Given the description of an element on the screen output the (x, y) to click on. 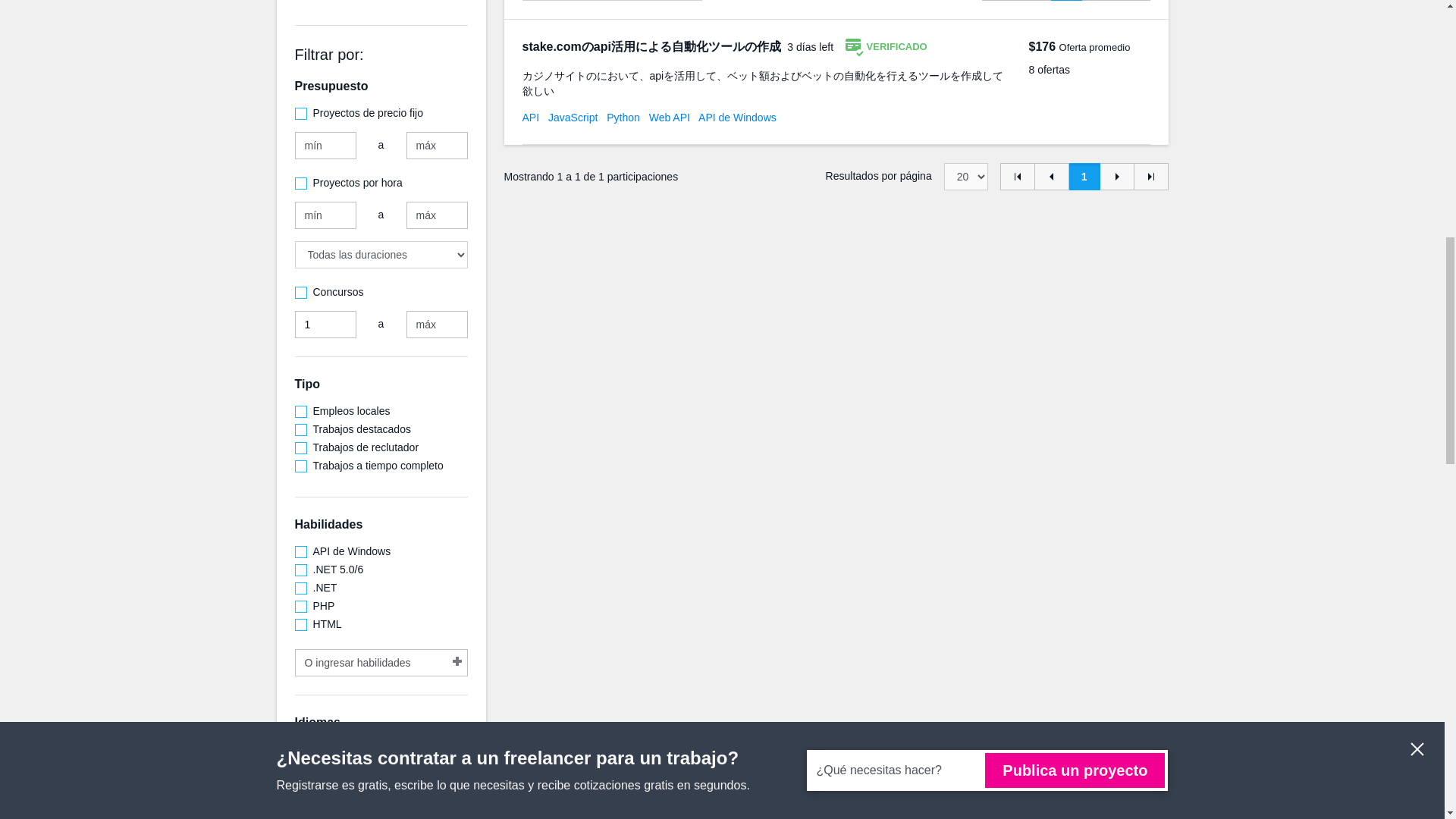
Web API (669, 117)
1 (324, 324)
JavaScript (572, 117)
API de Windows (737, 117)
1 (1084, 176)
Python (623, 117)
API (529, 117)
